Given the description of an element on the screen output the (x, y) to click on. 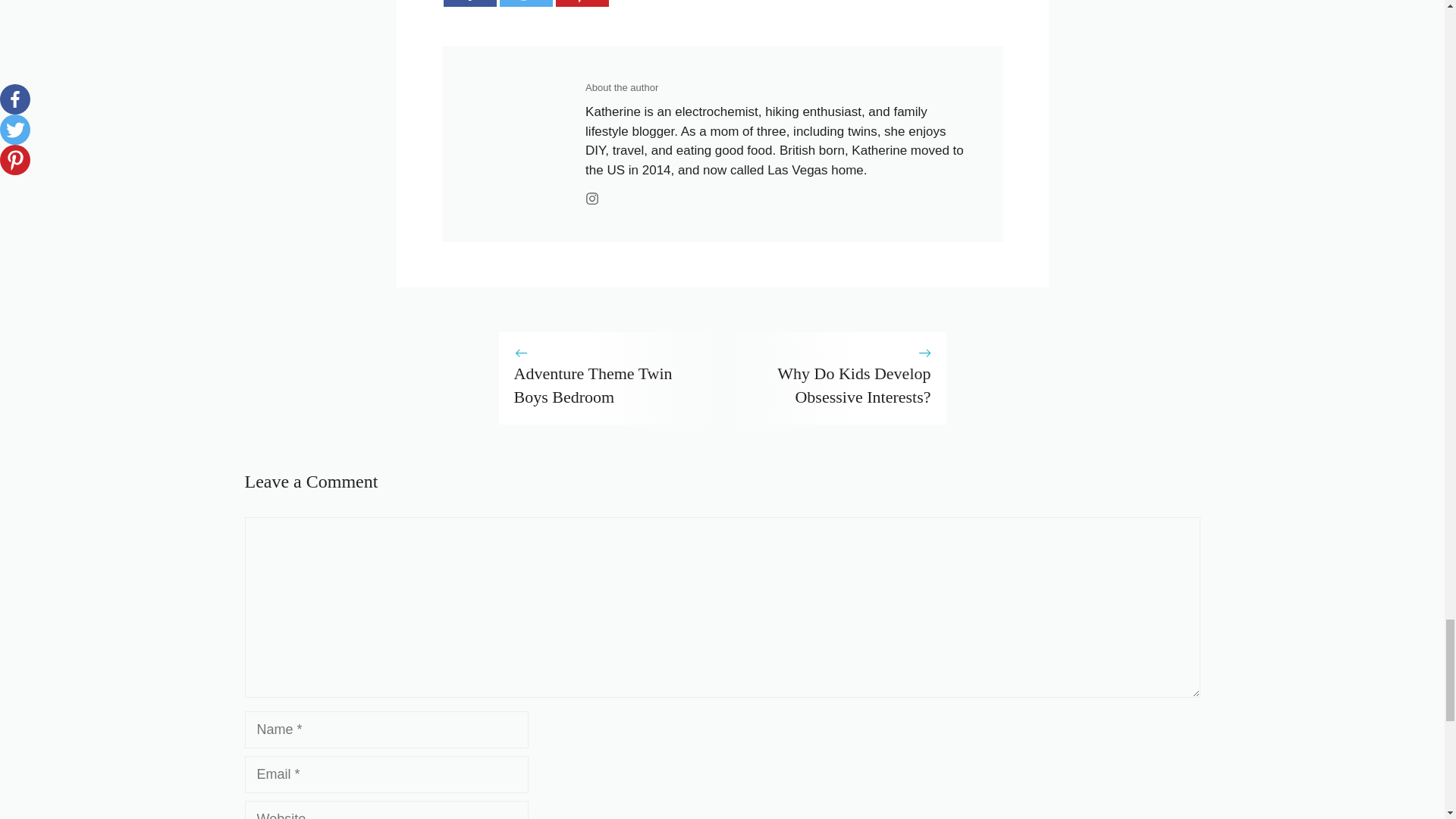
Twitter (525, 3)
Pinterest (581, 3)
cropped-favicon.jpg (520, 144)
Facebook (469, 3)
